Given the description of an element on the screen output the (x, y) to click on. 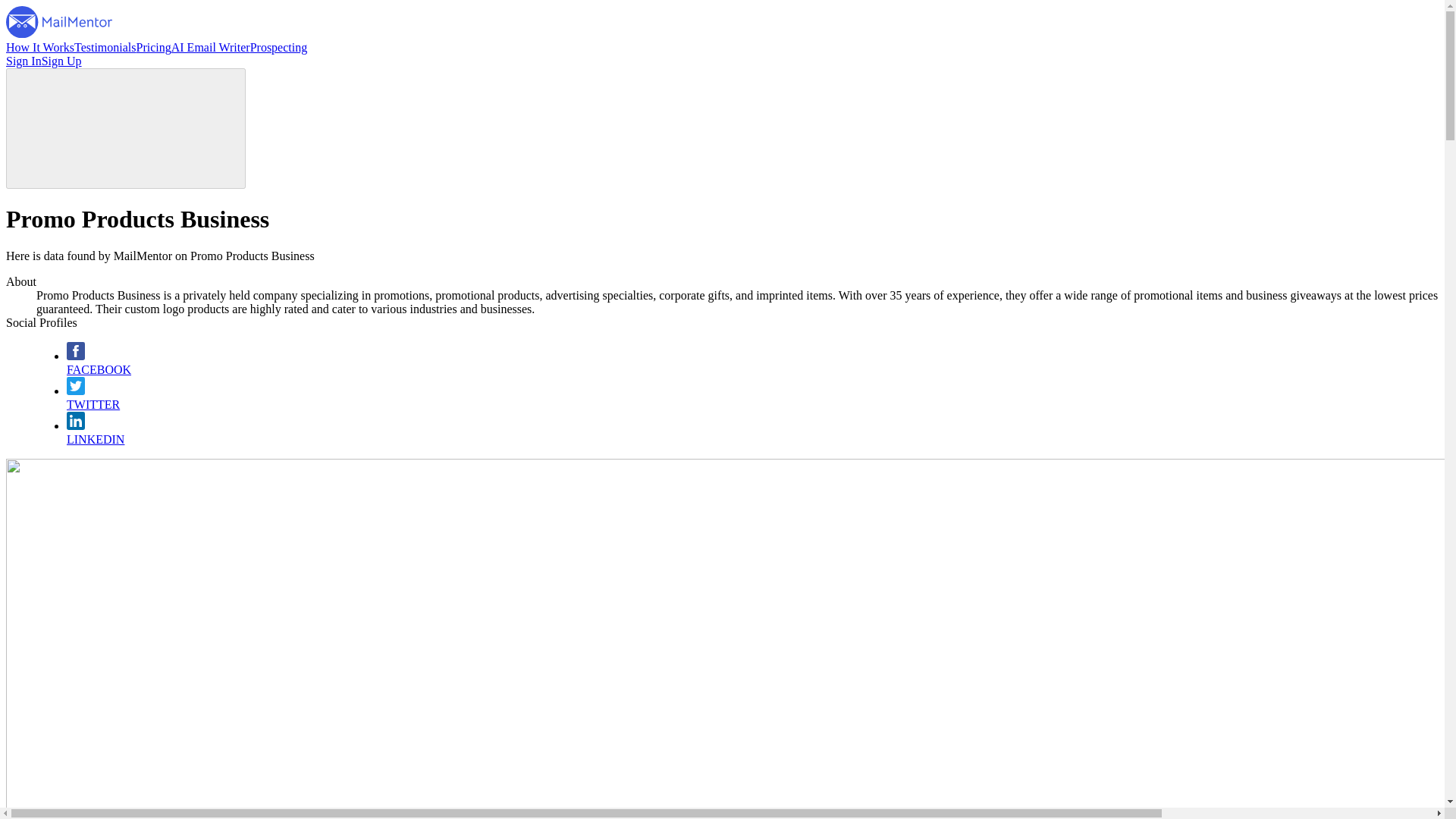
facebook (75, 355)
AI Email Writer (210, 47)
How It Works (39, 47)
Prospecting (278, 47)
Sign Up (61, 60)
Testimonials (105, 47)
twitter (75, 390)
Pricing (153, 47)
linkedin (75, 425)
Sign In (23, 60)
